Given the description of an element on the screen output the (x, y) to click on. 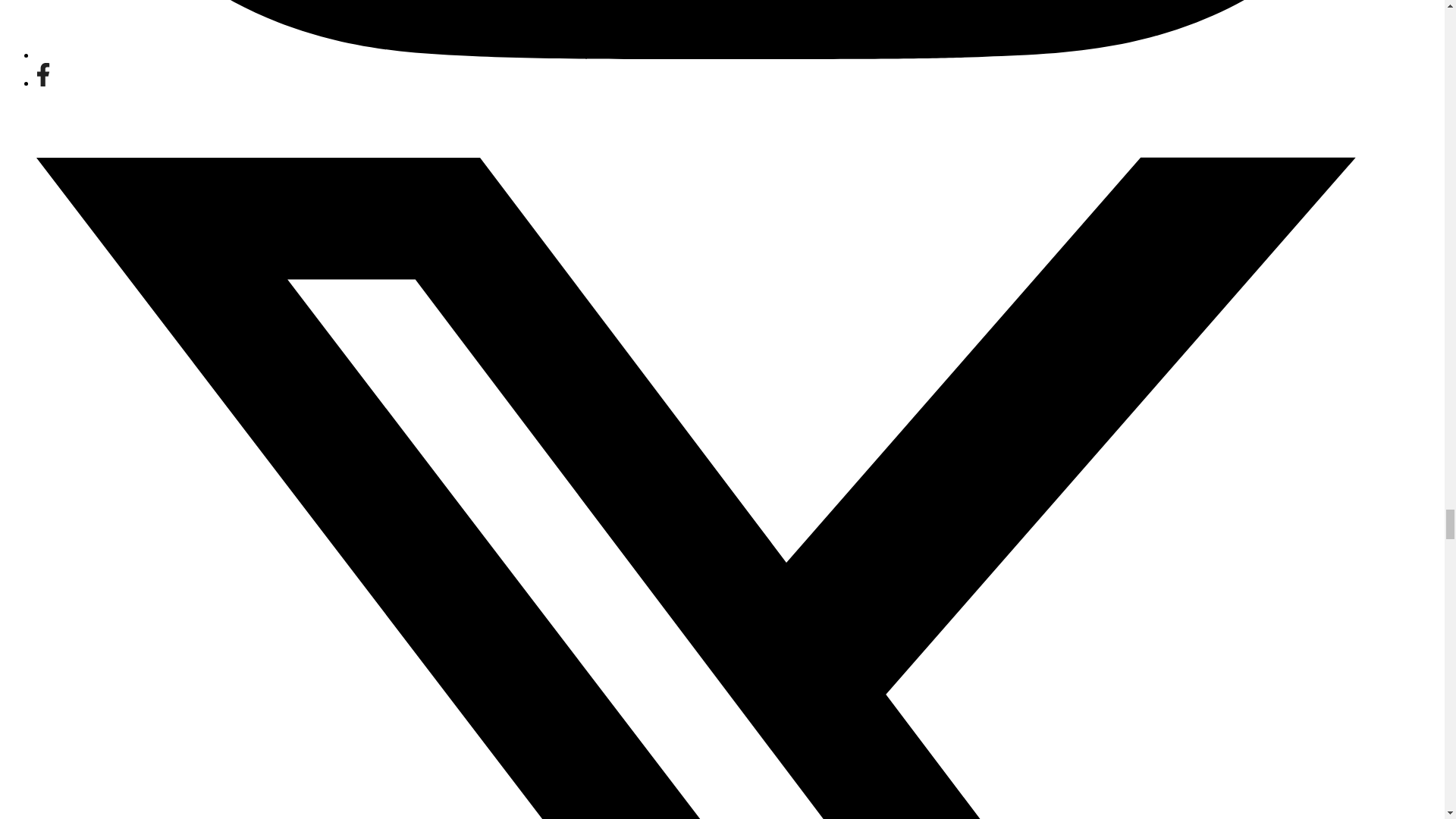
FaceBook (42, 74)
